Given the description of an element on the screen output the (x, y) to click on. 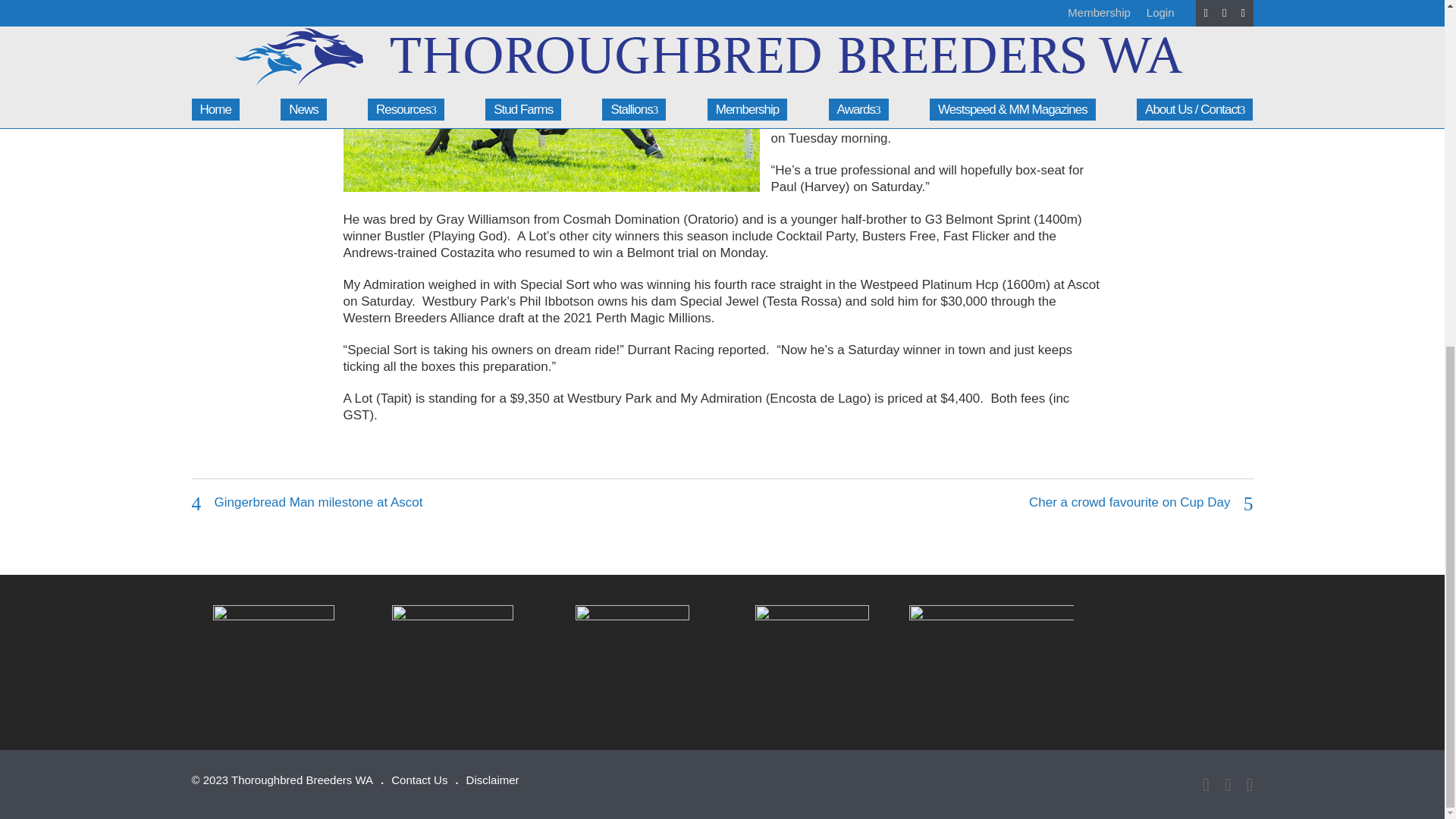
Cher a crowd favourite on Cup Day (1129, 502)
Gingerbread Man milestone at Ascot (318, 502)
Contact Us (418, 779)
Disclaimer (492, 779)
